Given the description of an element on the screen output the (x, y) to click on. 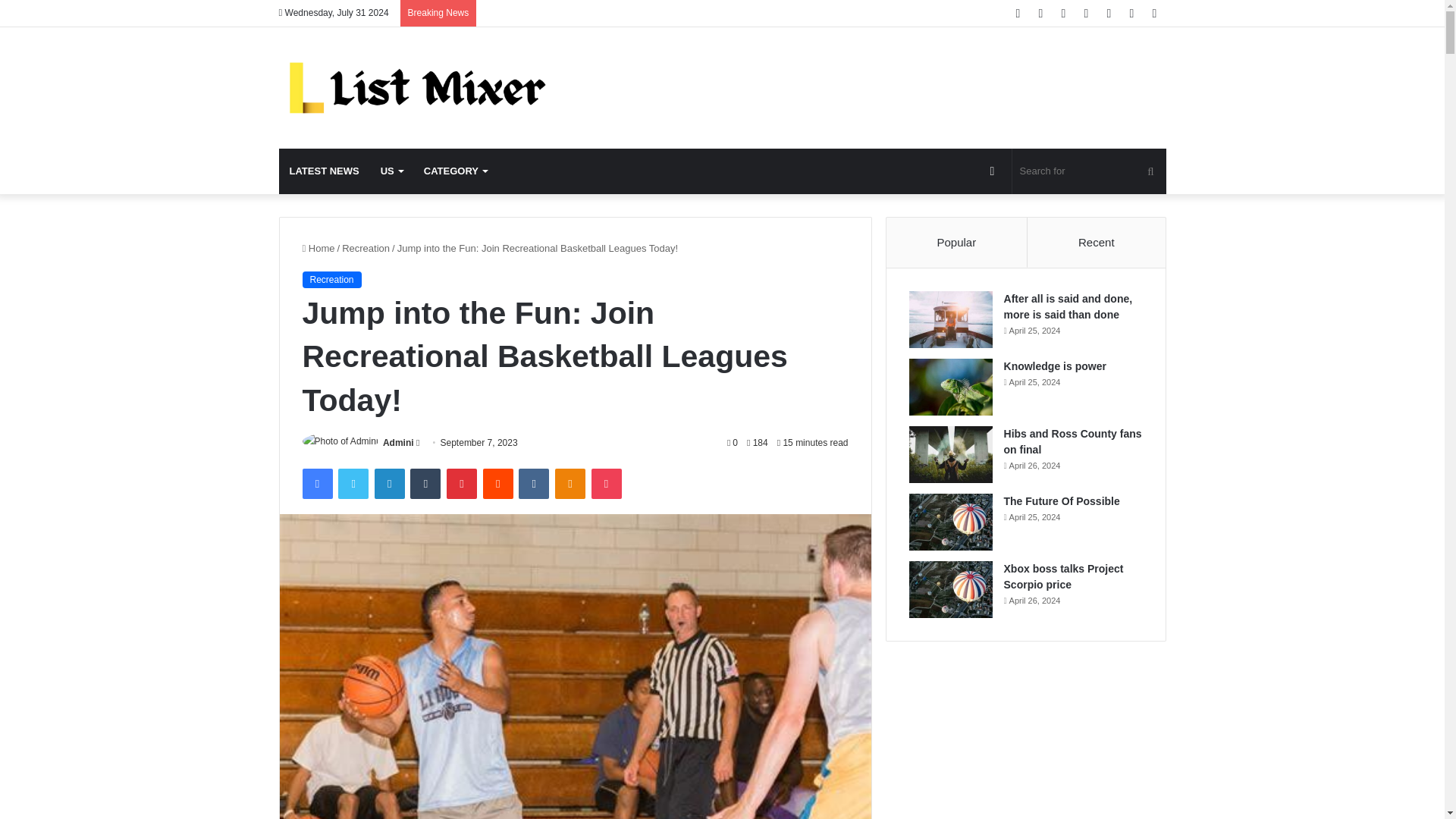
Admini (397, 442)
Odnoklassniki (569, 483)
VKontakte (533, 483)
Pocket (606, 483)
Twitter (352, 483)
Listmixer News for You (419, 87)
CATEGORY (455, 171)
LinkedIn (389, 483)
Search for (1088, 171)
LATEST NEWS (324, 171)
Pinterest (461, 483)
US (391, 171)
Reddit (498, 483)
Facebook (316, 483)
Tumblr (425, 483)
